Given the description of an element on the screen output the (x, y) to click on. 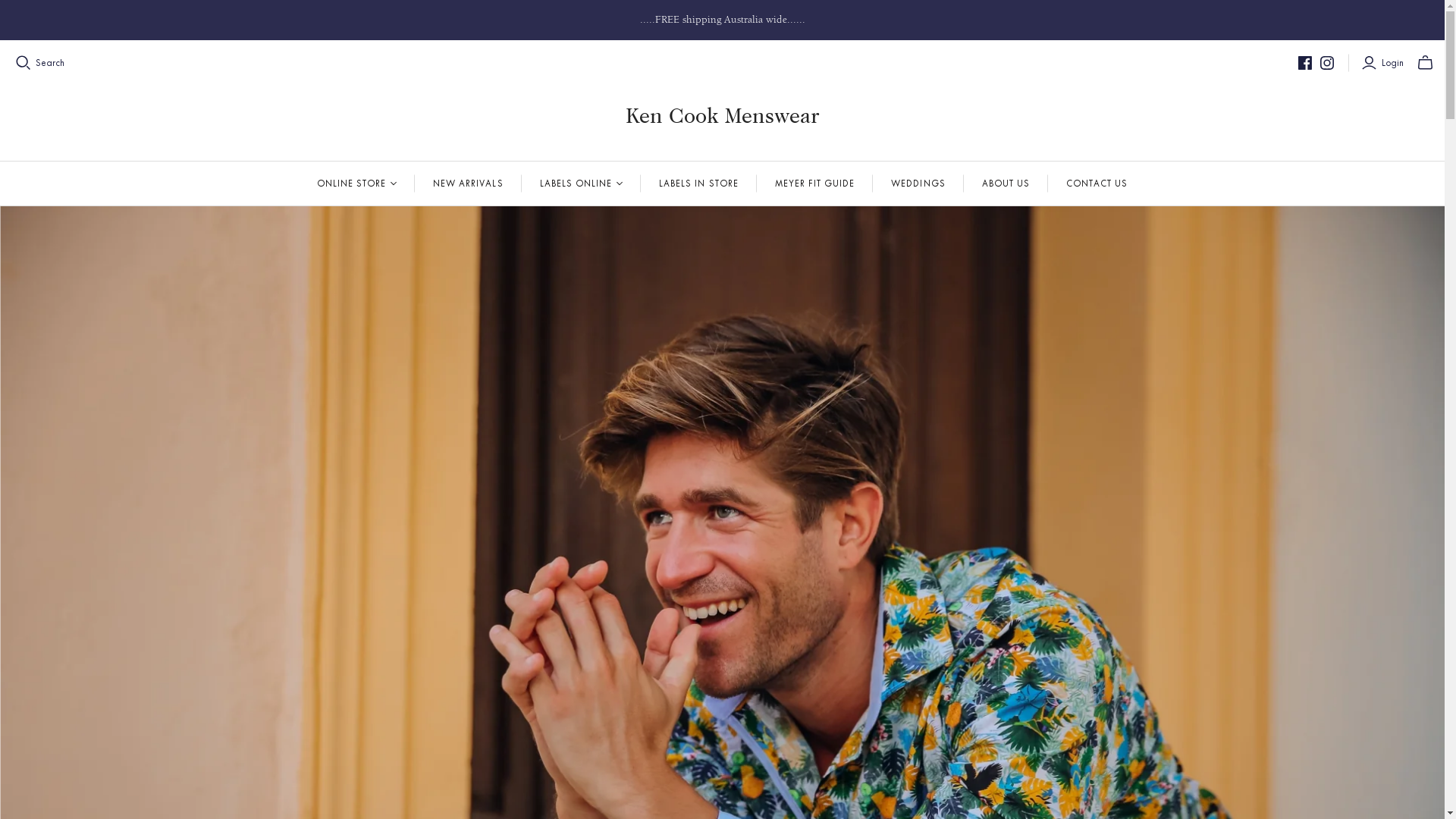
ABOUT US Element type: text (1005, 183)
NEW ARRIVALS Element type: text (467, 183)
WEDDINGS Element type: text (917, 183)
CONTACT US Element type: text (1096, 183)
ONLINE STORE Element type: text (356, 183)
.....FREE shipping Australia wide...... Element type: text (722, 20)
LABELS IN STORE Element type: text (698, 183)
MEYER FIT GUIDE Element type: text (814, 183)
LABELS ONLINE Element type: text (581, 183)
Ken Cook Menswear Element type: text (722, 115)
Login Element type: text (1384, 62)
